Given the description of an element on the screen output the (x, y) to click on. 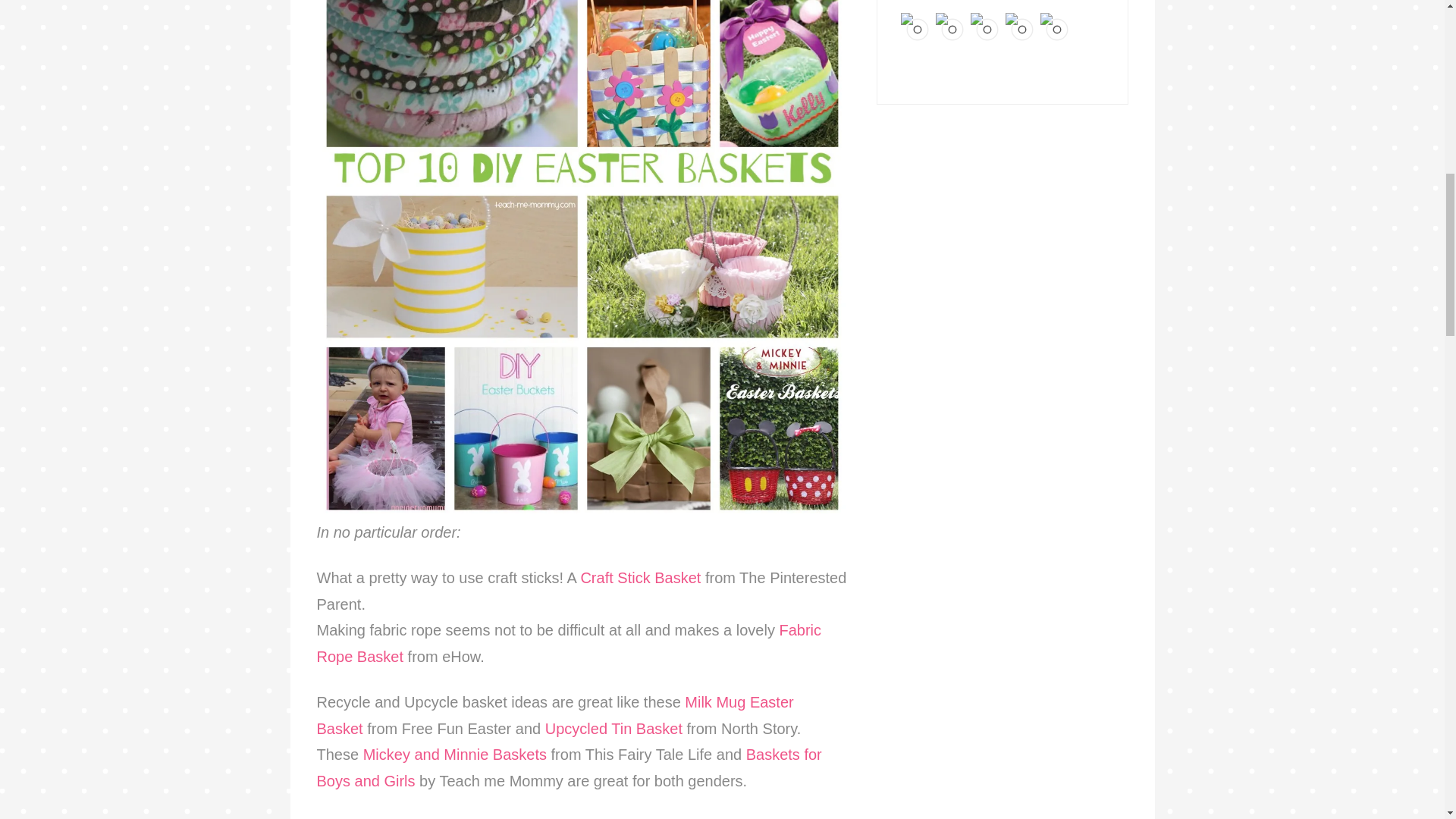
Fabric Rope Basket (569, 643)
Baskets for Boys and Girls (569, 767)
Mickey and Minnie Baskets (454, 754)
Craft Stick Basket (639, 577)
Milk Mug Easter Basket (555, 715)
Upcycled Tin Basket (613, 728)
